Given the description of an element on the screen output the (x, y) to click on. 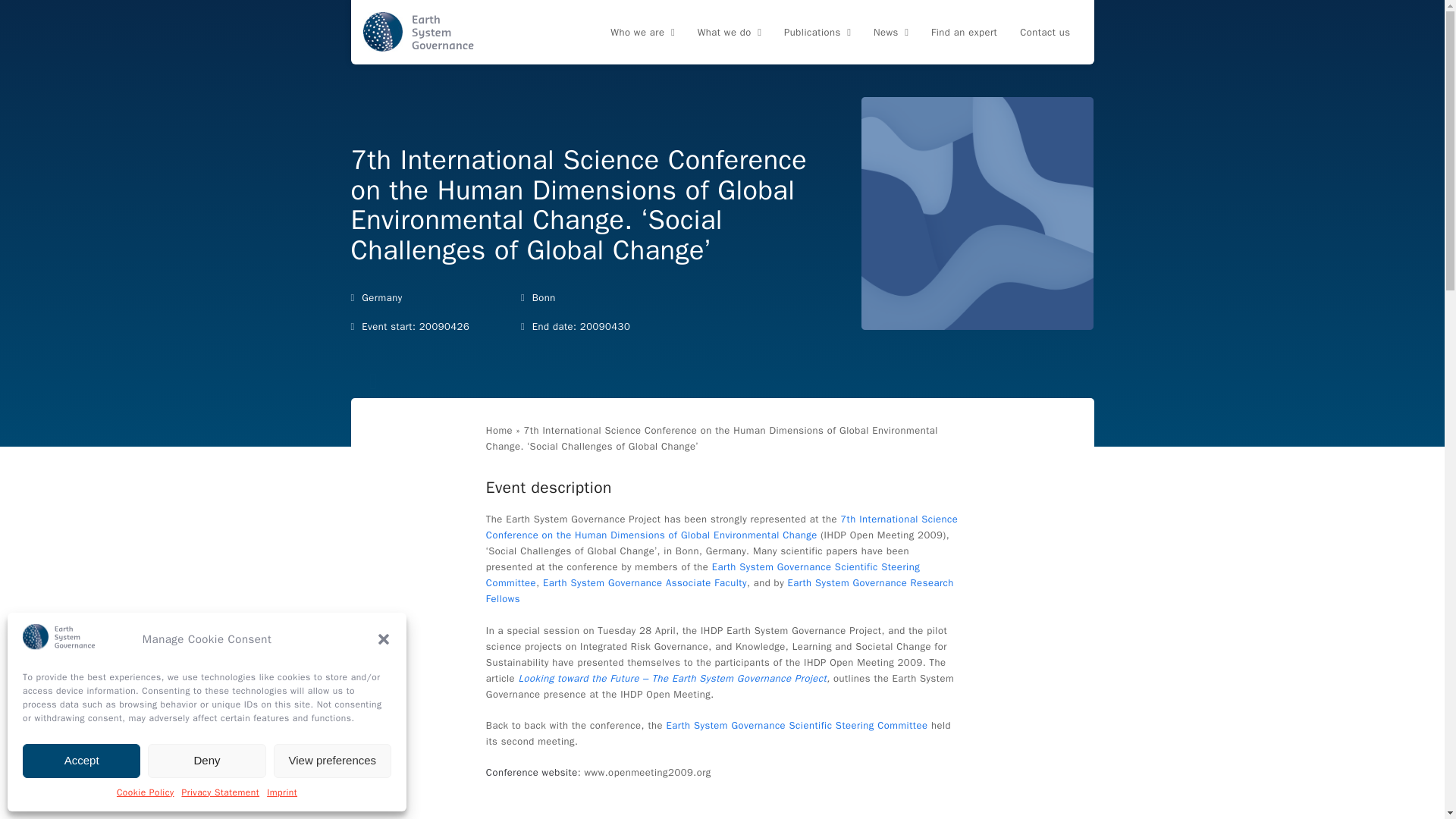
Cookie Policy (145, 792)
Who we are (641, 32)
Accept (81, 759)
What we do (729, 32)
Imprint (281, 792)
Deny (206, 759)
Privacy Statement (219, 792)
View preferences (332, 759)
